Given the description of an element on the screen output the (x, y) to click on. 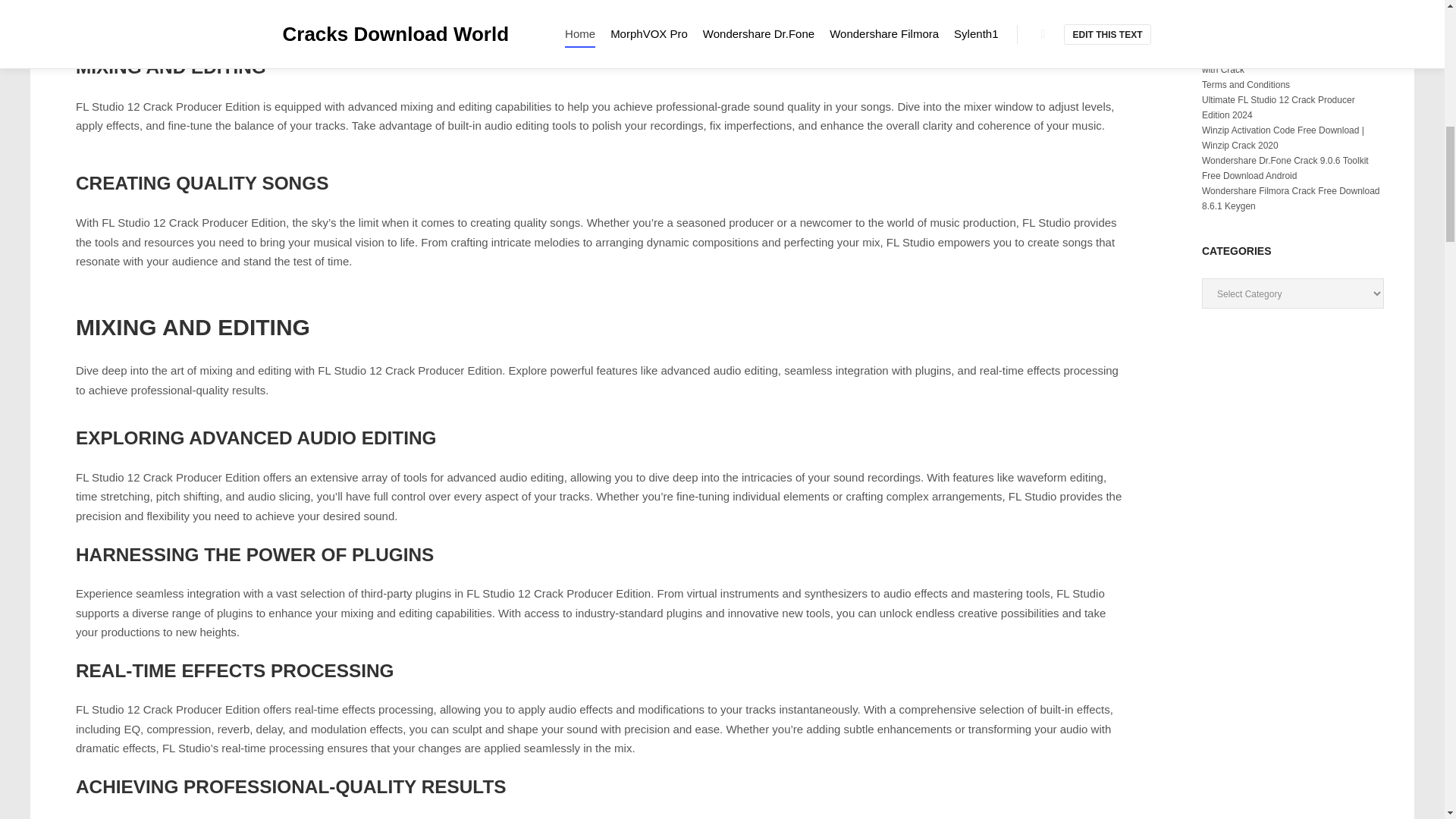
Ultimate FL Studio 12 Crack Producer Edition 2024 (1278, 107)
Terms and Conditions (1246, 84)
Tally erp 9 Crack free Download full Version with Crack (1289, 62)
Sitemap (1218, 9)
Wondershare Filmora Crack Free Download 8.6.1 Keygen (1291, 198)
